Given the description of an element on the screen output the (x, y) to click on. 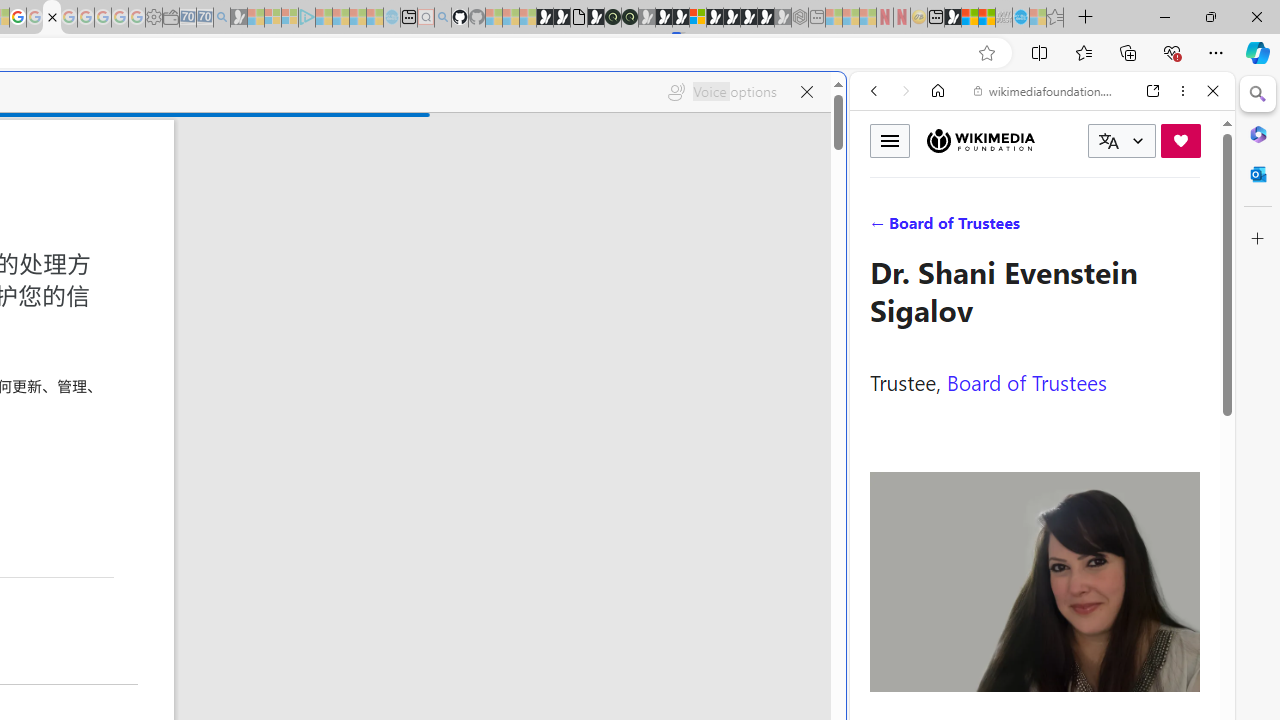
Toggle menu (890, 140)
Earth has six continents not seven, radical new study claims (986, 17)
